Given the description of an element on the screen output the (x, y) to click on. 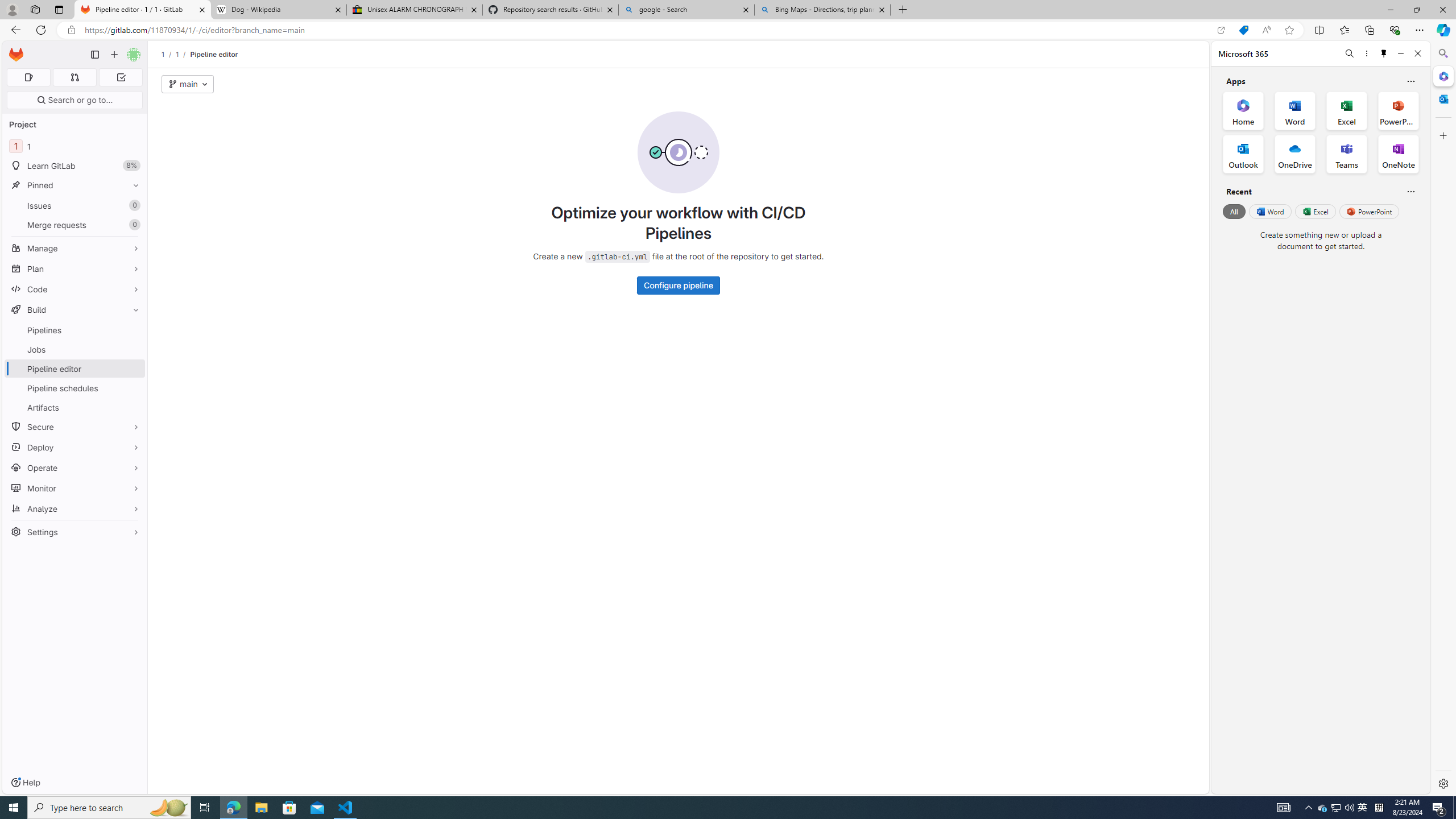
Monitor (74, 488)
Learn GitLab 8% (74, 165)
OneDrive Office App (1295, 154)
PowerPoint Office App (1398, 110)
Excel (1315, 210)
Deploy (74, 447)
Pipelines (74, 330)
11 (74, 145)
Analyze (74, 508)
Operate (74, 467)
